Given the description of an element on the screen output the (x, y) to click on. 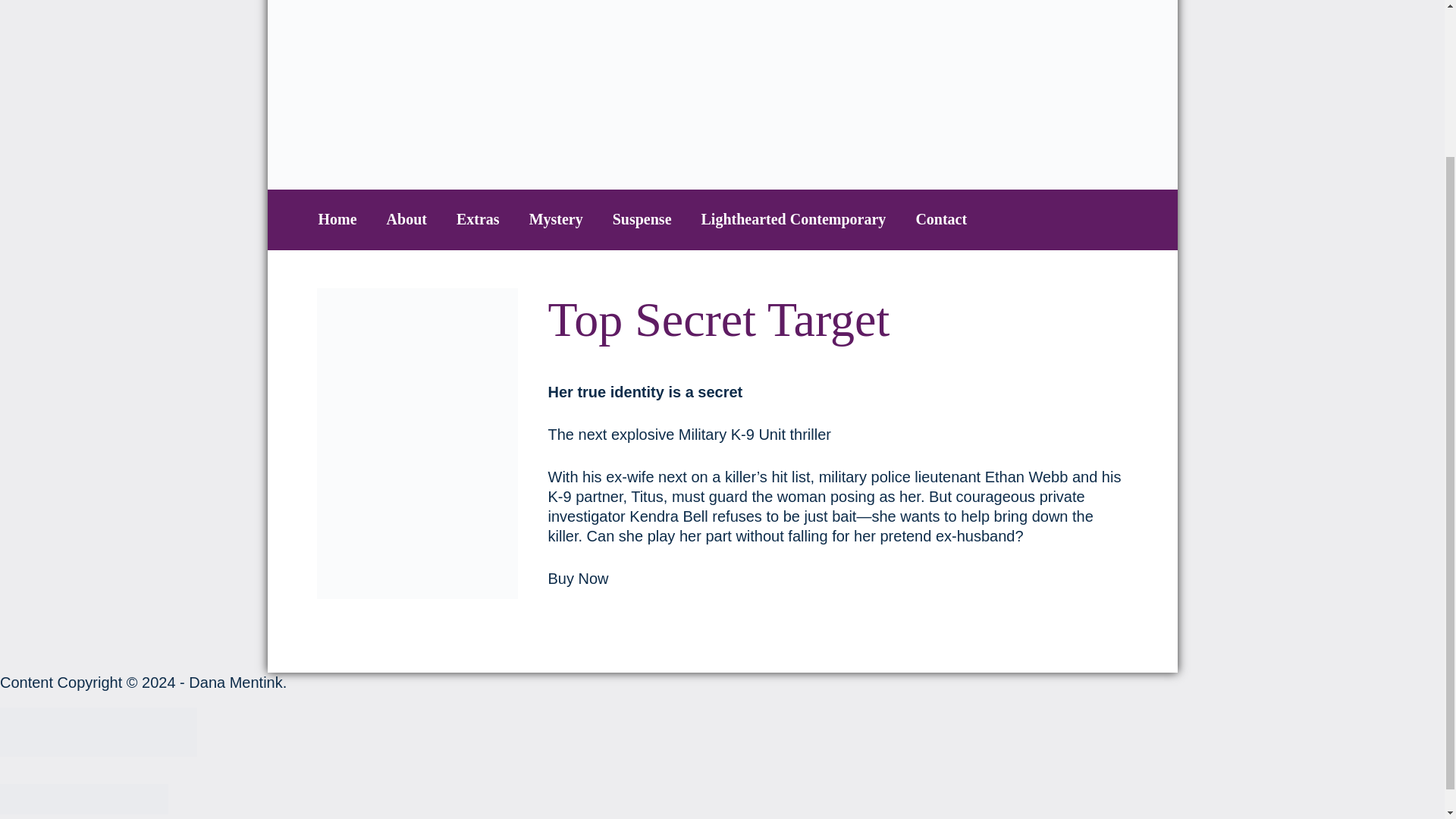
Dana Mentink on Twitter (74, 731)
Contact (940, 218)
Suspense (641, 218)
Extras (478, 218)
Dana Mentink on Facebook (24, 731)
Lighthearted Contemporary (793, 218)
About (406, 218)
Mystery (556, 218)
Follow Author Dana Mentink on BookBub (84, 798)
Home (337, 218)
Dana Mentink on YouTube (123, 731)
Dana Mentink on BookBub (172, 731)
